Given the description of an element on the screen output the (x, y) to click on. 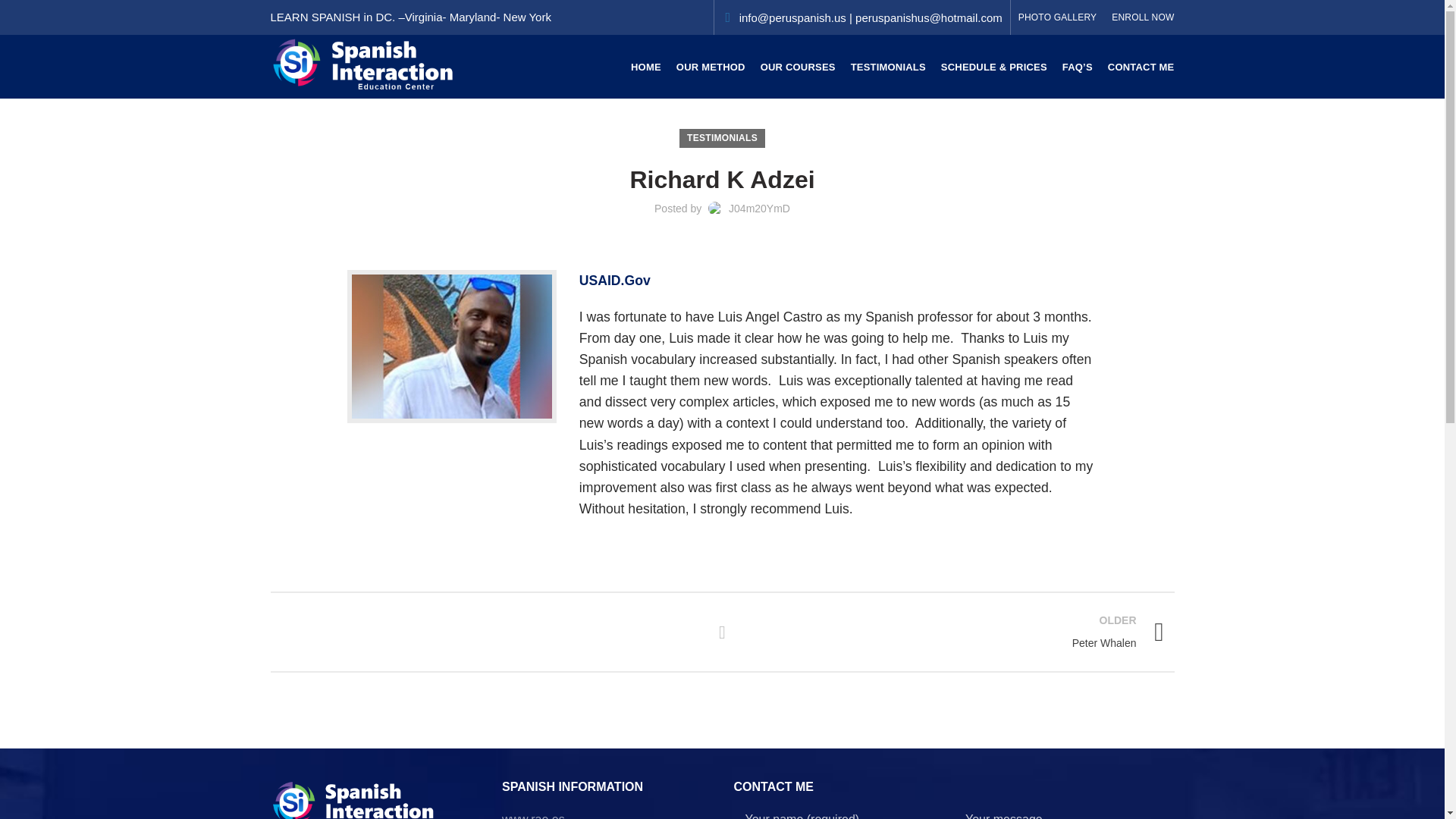
Back to list (722, 631)
HOME (645, 66)
OUR METHOD (710, 66)
TESTIMONIALS (888, 66)
J04m20YmD (759, 208)
ENROLL NOW (1141, 17)
PHOTO GALLERY (953, 631)
TESTIMONIALS (1057, 17)
OUR COURSES (722, 138)
